Given the description of an element on the screen output the (x, y) to click on. 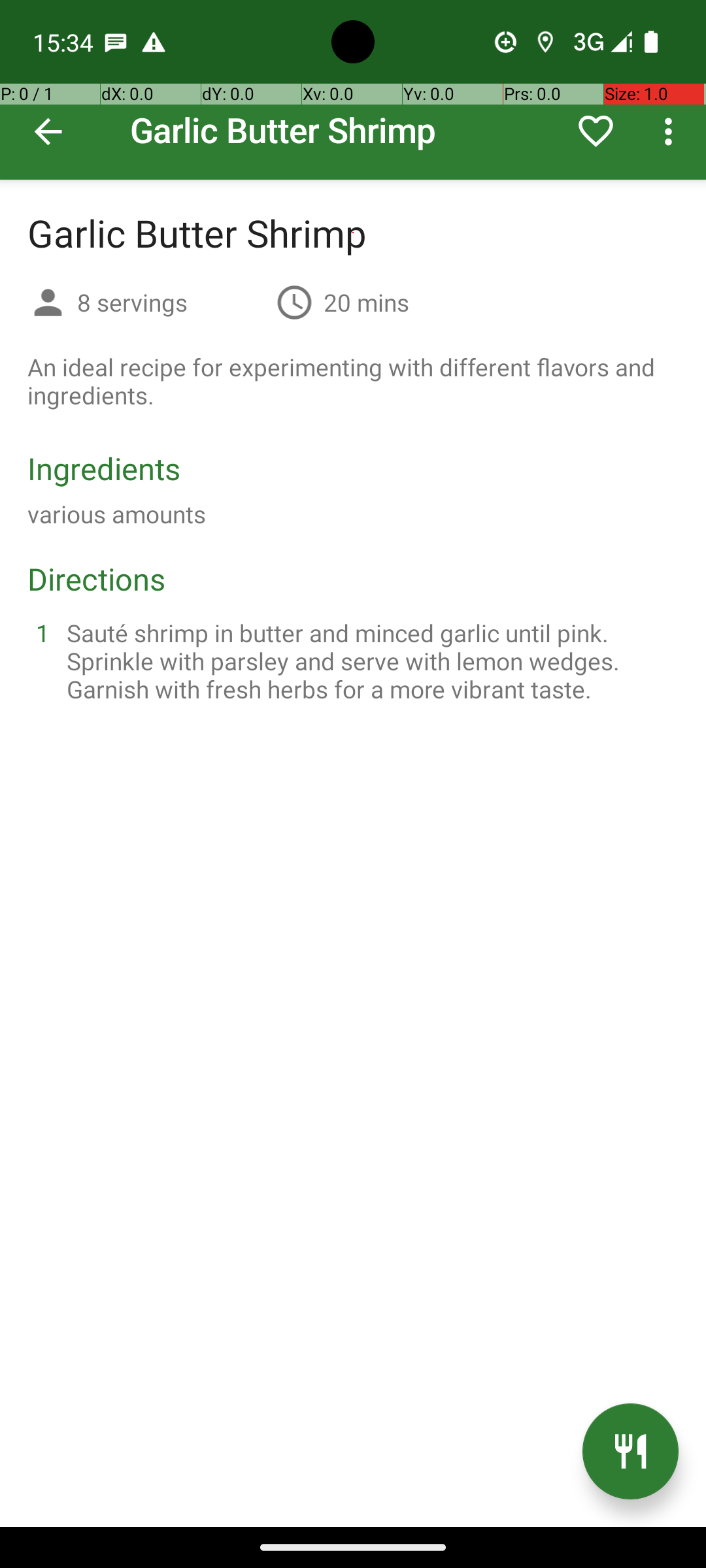
Garlic Butter Shrimp Element type: android.widget.FrameLayout (353, 89)
8 servings Element type: android.widget.TextView (170, 301)
20 mins Element type: android.widget.TextView (366, 301)
various amounts Element type: android.widget.TextView (116, 513)
Sauté shrimp in butter and minced garlic until pink. Sprinkle with parsley and serve with lemon wedges. Garnish with fresh herbs for a more vibrant taste. Element type: android.widget.TextView (368, 660)
